Given the description of an element on the screen output the (x, y) to click on. 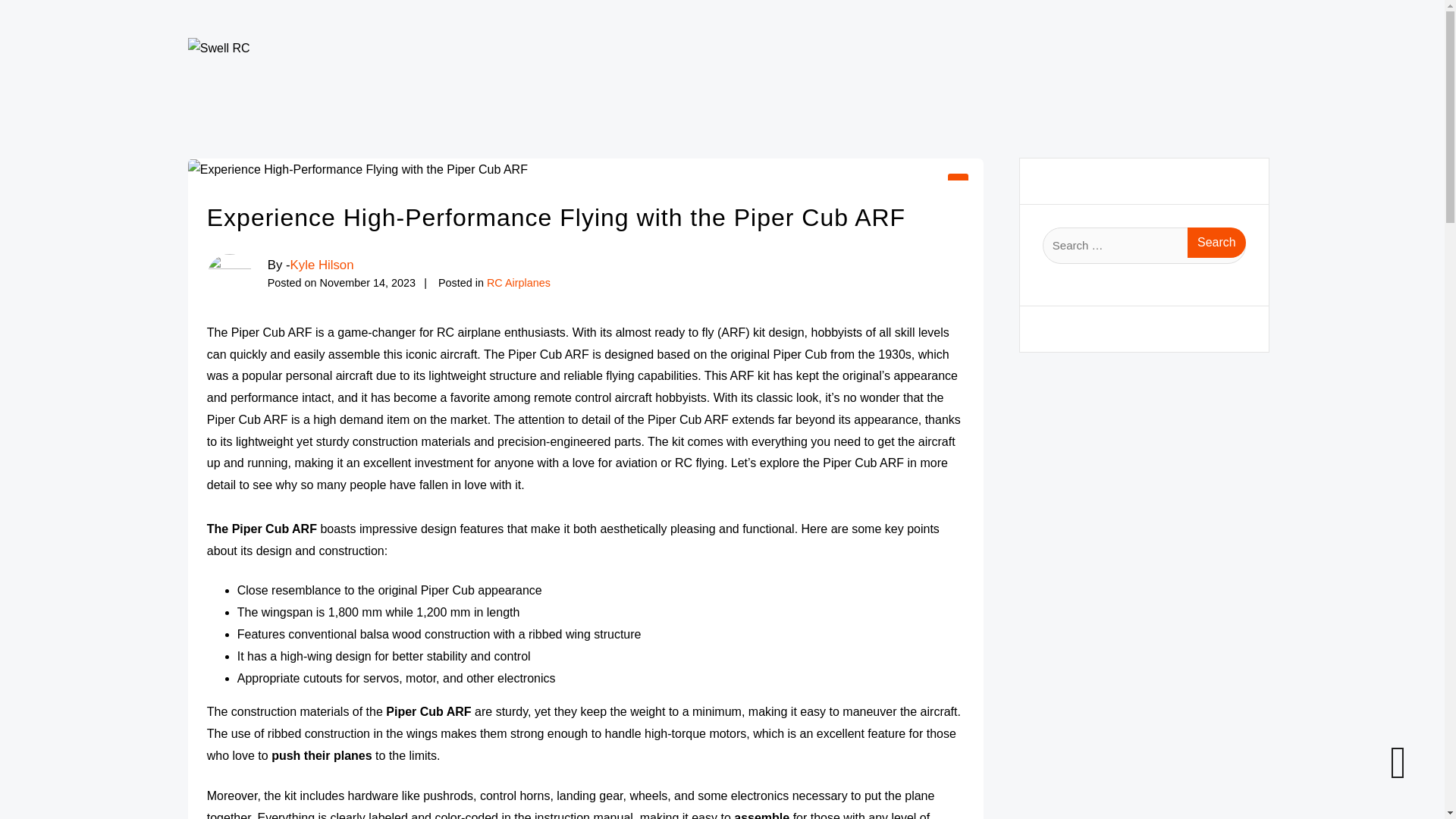
RC Airplanes (518, 282)
Search (1217, 242)
Search (1217, 242)
Kyle Hilson (321, 264)
Search (1217, 242)
